Given the description of an element on the screen output the (x, y) to click on. 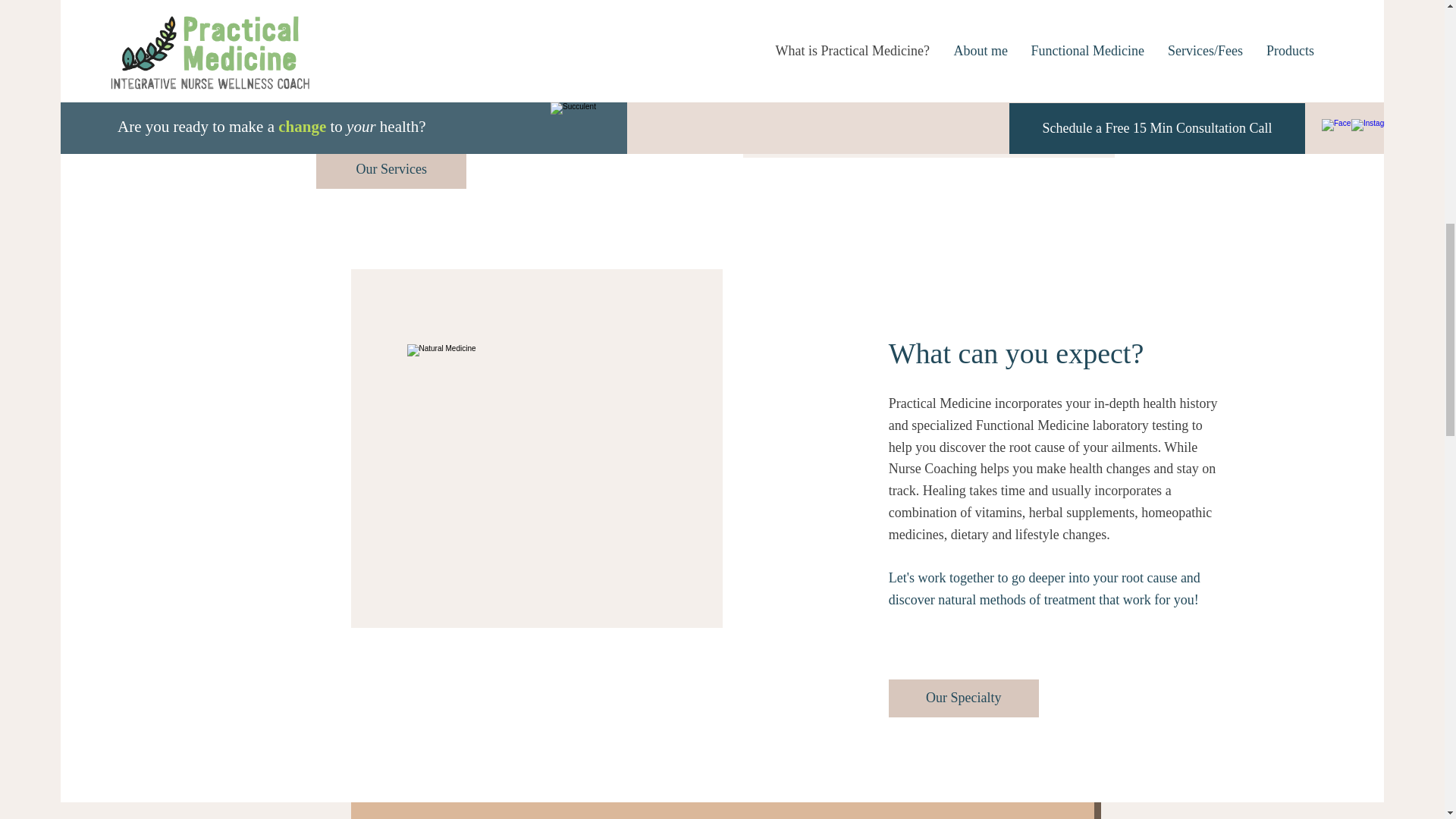
Our Specialty (963, 698)
Our Services (390, 168)
